Given the description of an element on the screen output the (x, y) to click on. 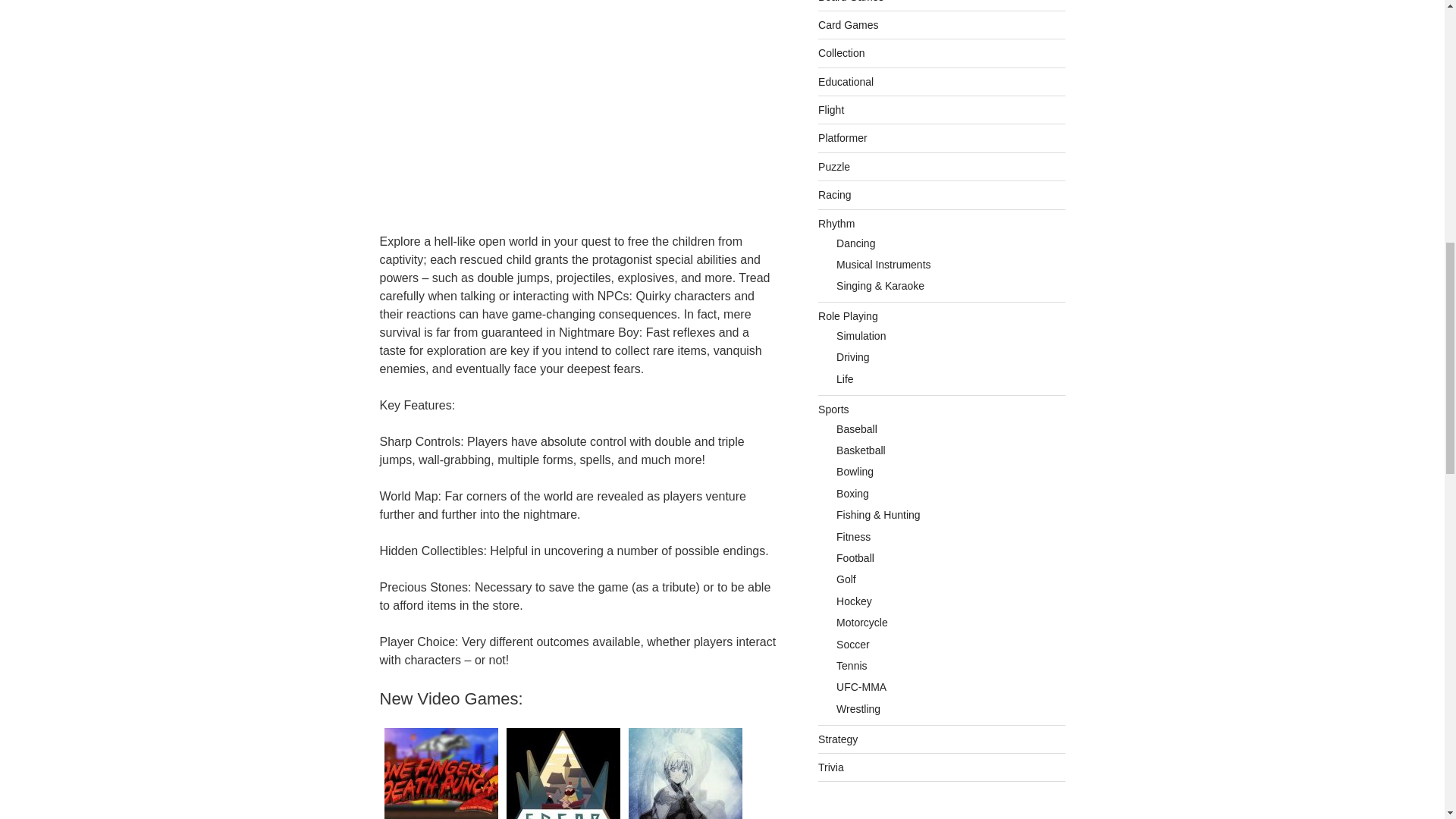
Edgar - Bokbok in Boulzac (563, 771)
Rune Factory 4 Special (684, 771)
YouTube player (577, 107)
One Finger Death Punch 2 (440, 771)
